Given the description of an element on the screen output the (x, y) to click on. 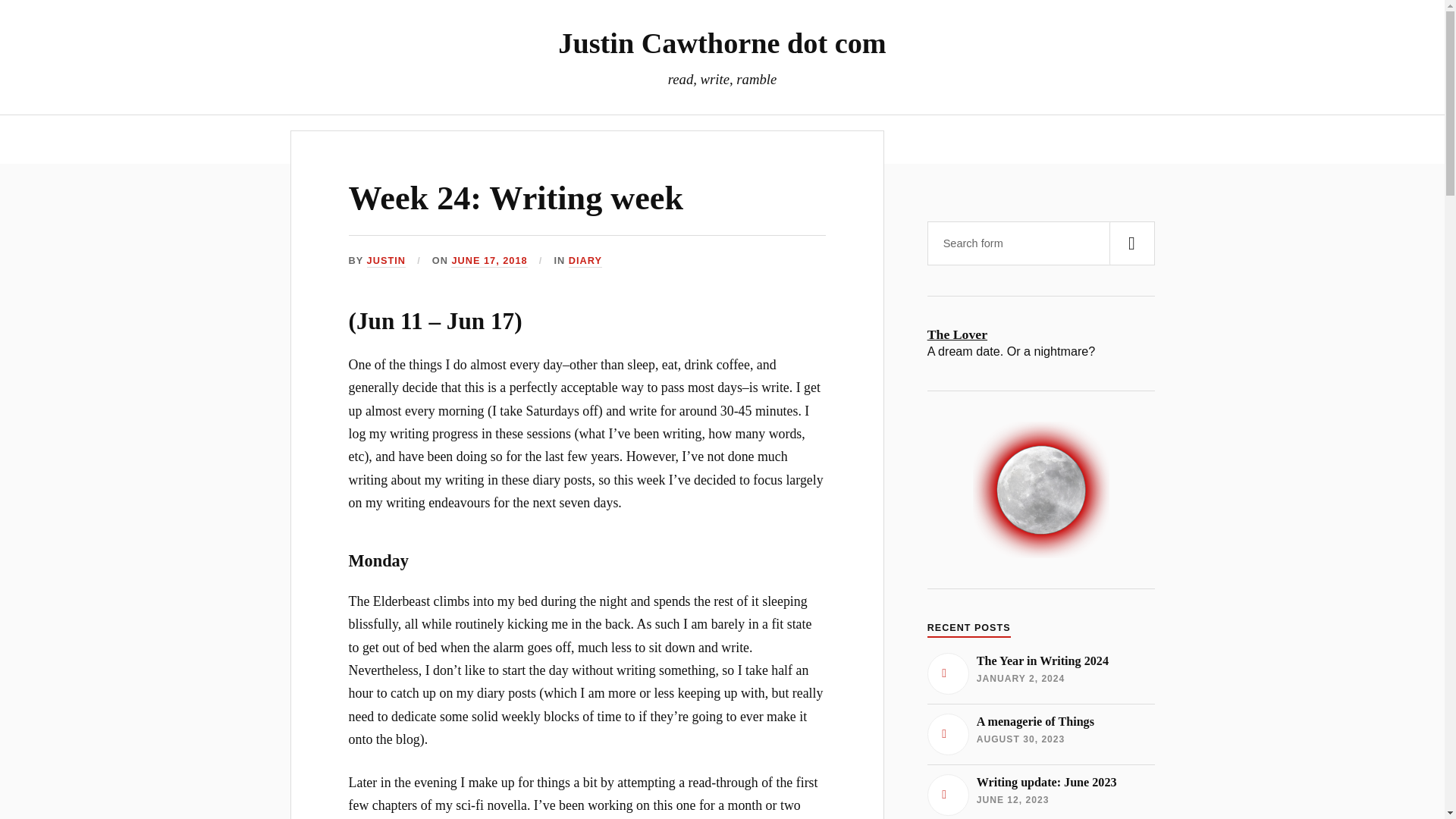
Justin Cawthorne dot com (721, 42)
JUSTIN (1040, 672)
Slightly Odd Tales (386, 260)
JUNE 17, 2018 (616, 138)
The Lover (1040, 733)
Week 24: Writing week (489, 260)
DIARY (1040, 793)
Posts by Justin (1040, 334)
There Is A Light That Never Goes Out (515, 198)
